Given the description of an element on the screen output the (x, y) to click on. 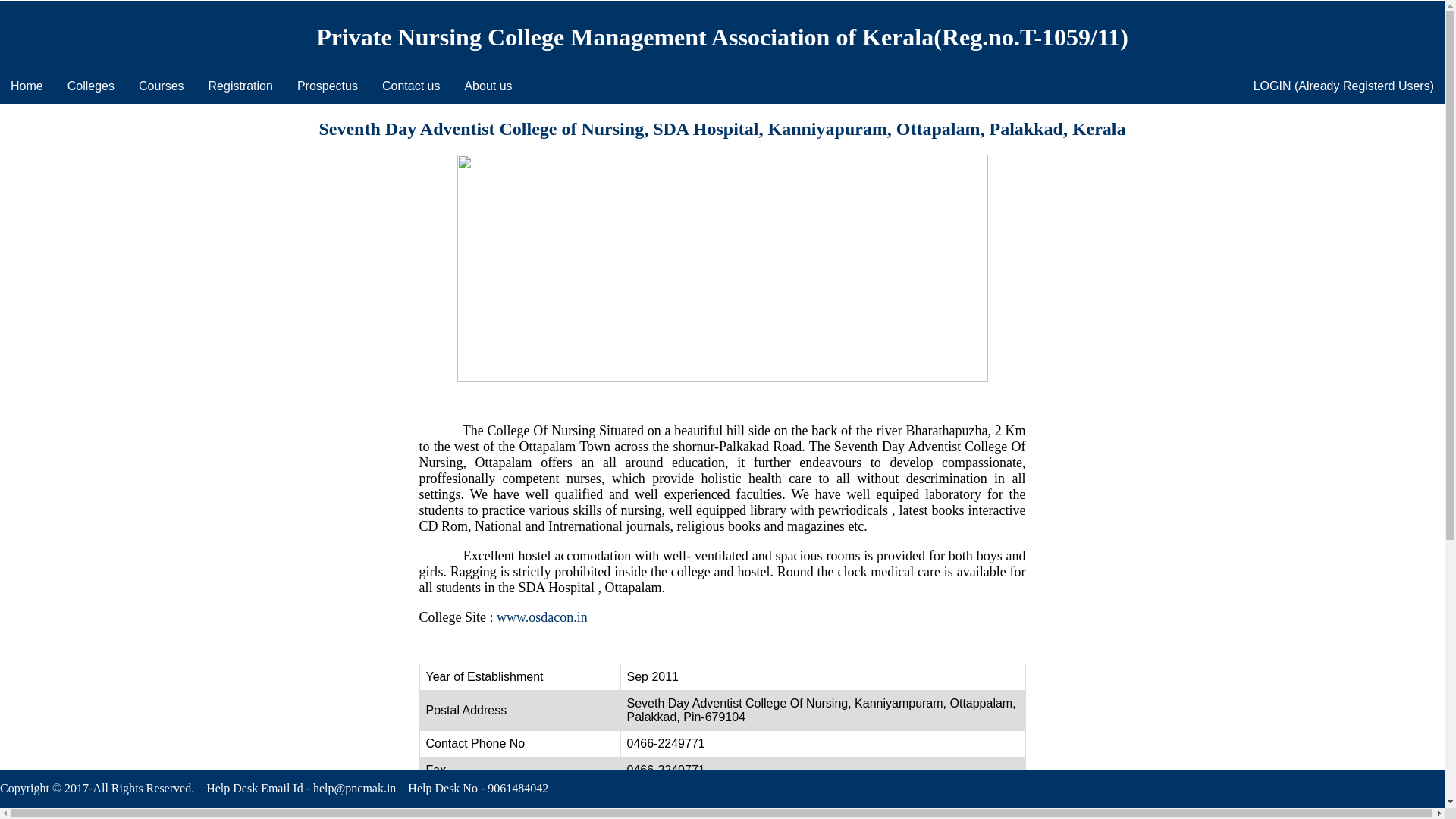
Colleges (90, 86)
Contact us (410, 86)
Home (27, 86)
About us (487, 86)
Prospectus (327, 86)
Courses (161, 86)
Registration (240, 86)
www.osdacon.in (542, 616)
